Given the description of an element on the screen output the (x, y) to click on. 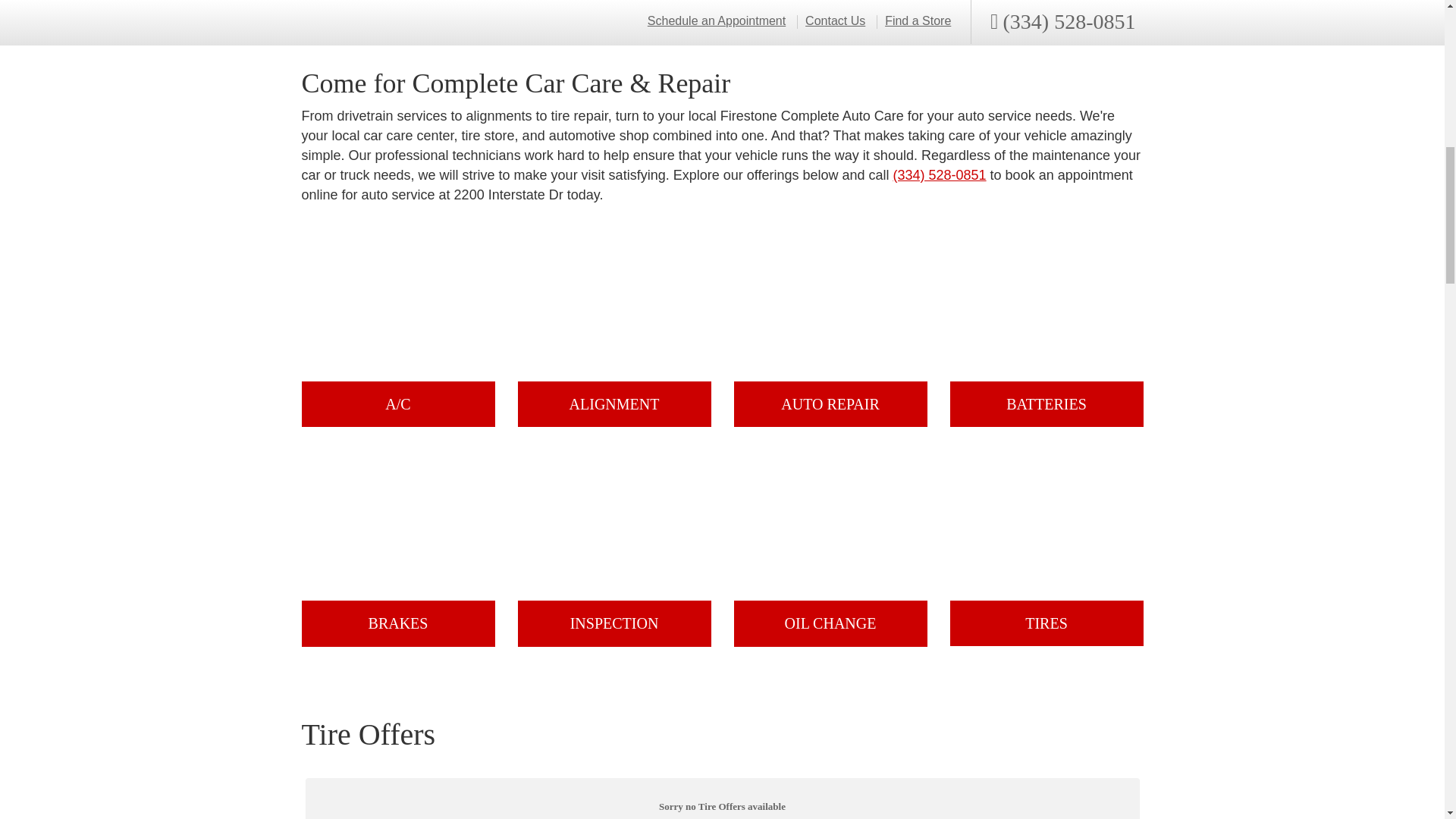
BRAKES (398, 547)
AUTO REPAIR (830, 328)
ALIGNMENT (613, 328)
BATTERIES (1045, 328)
